Given the description of an element on the screen output the (x, y) to click on. 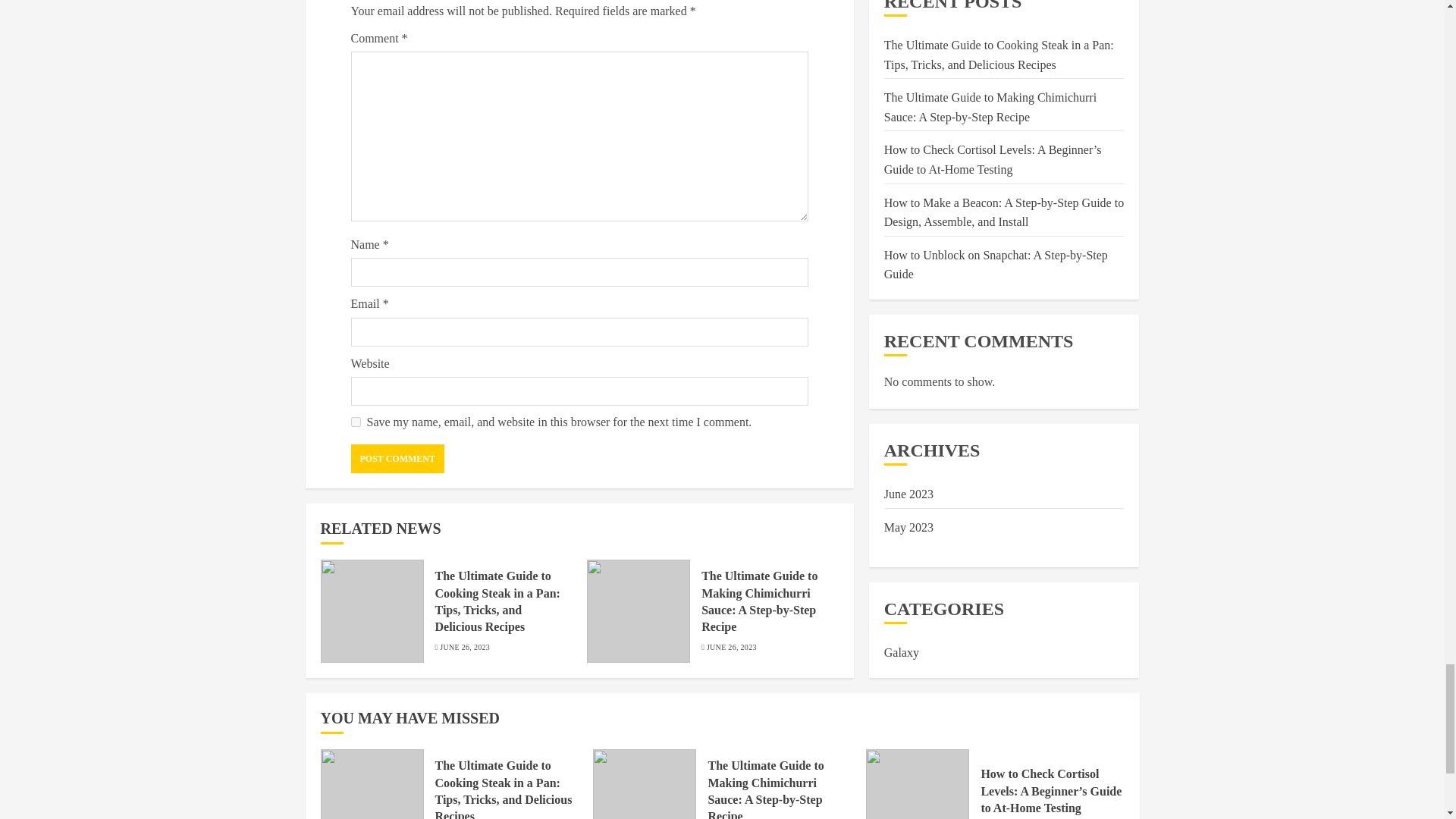
Post Comment (397, 458)
yes (354, 421)
Post Comment (397, 458)
JUNE 26, 2023 (464, 647)
JUNE 26, 2023 (731, 647)
